Given the description of an element on the screen output the (x, y) to click on. 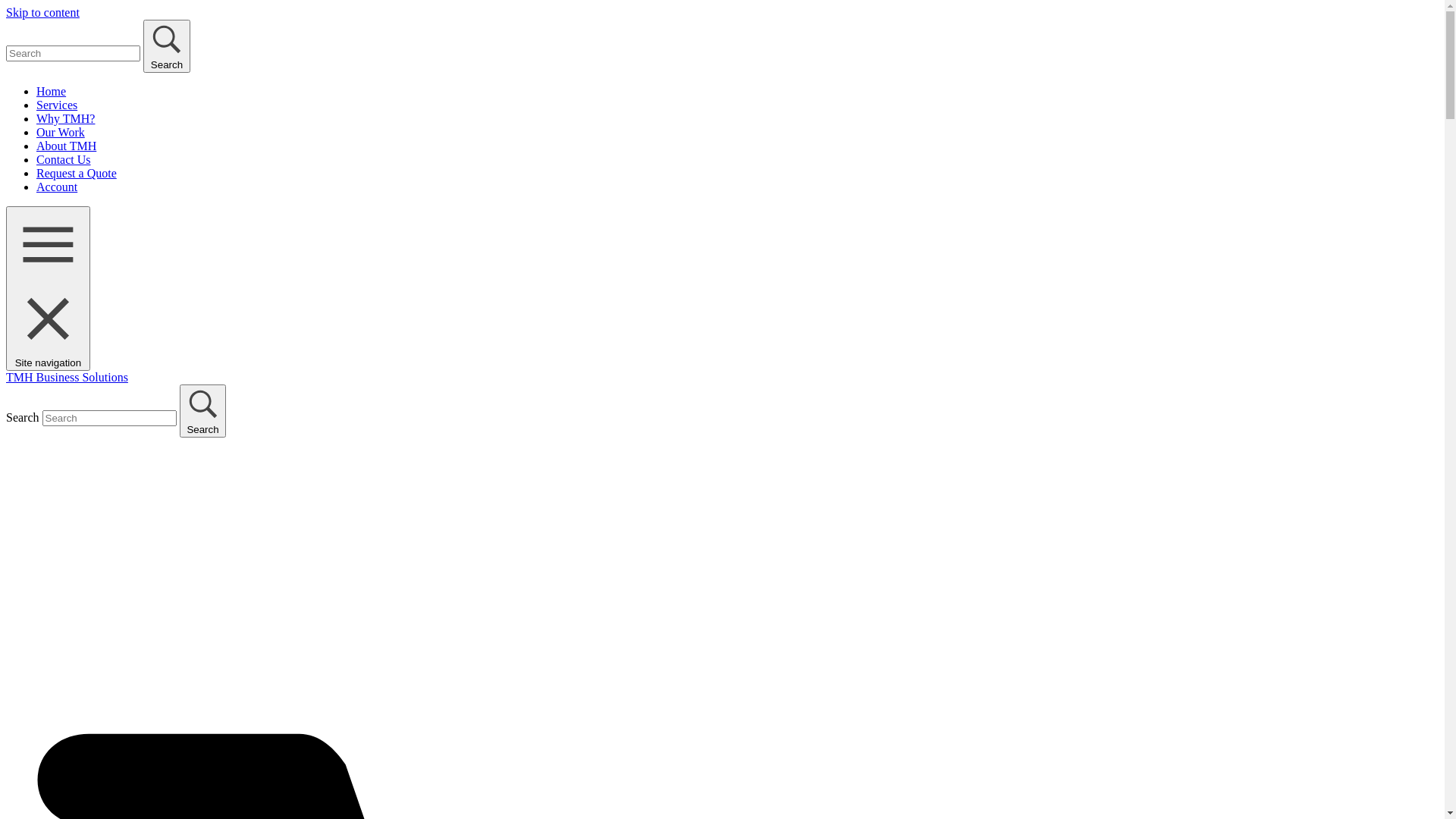
Services Element type: text (56, 104)
Search Element type: text (166, 45)
Skip to content Element type: text (42, 12)
Search Element type: text (202, 410)
TMH Business Solutions Element type: text (67, 376)
Our Work Element type: text (60, 131)
Account Element type: text (56, 186)
Request a Quote Element type: text (76, 172)
About TMH Element type: text (66, 145)
Home Element type: text (50, 90)
Contact Us Element type: text (63, 159)
Why TMH? Element type: text (65, 118)
Site navigation Element type: text (48, 288)
